Given the description of an element on the screen output the (x, y) to click on. 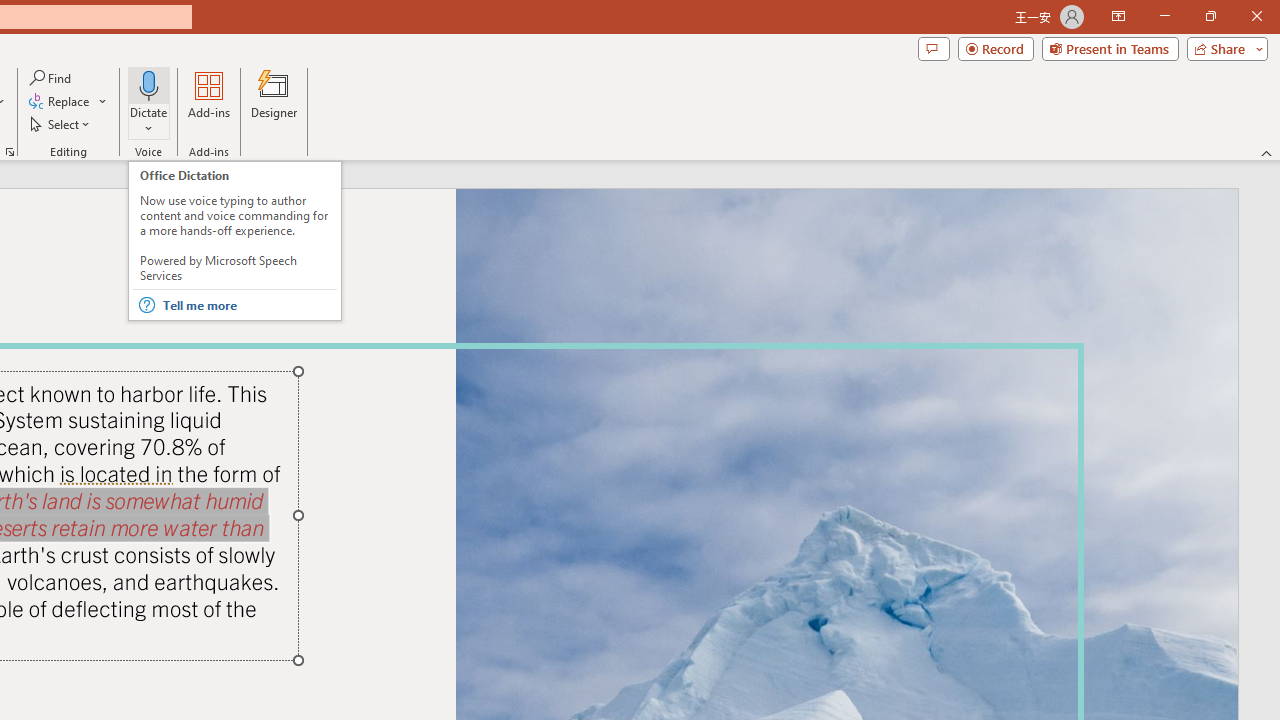
Tell me more (248, 304)
